Given the description of an element on the screen output the (x, y) to click on. 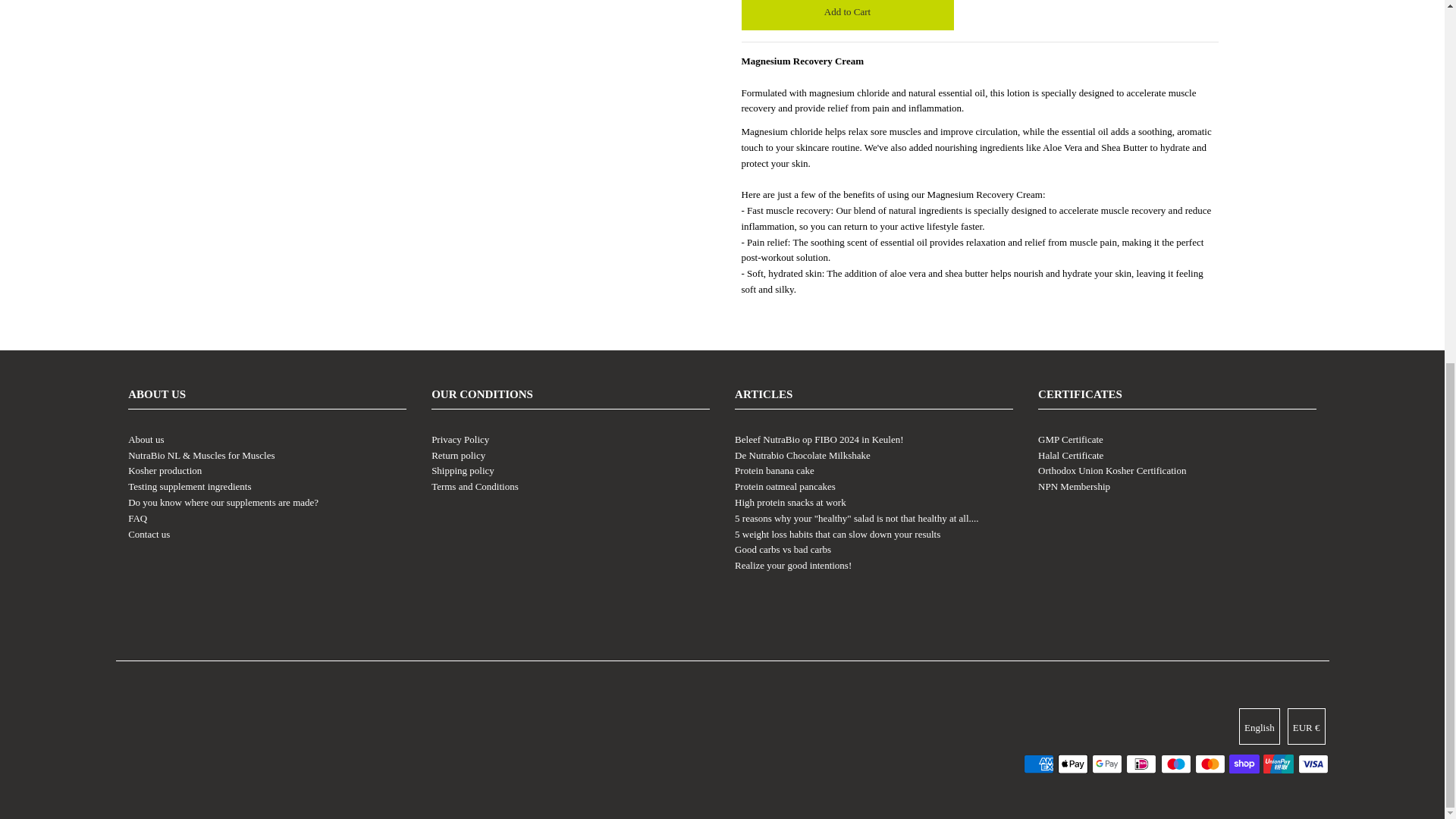
iDEAL (1140, 763)
Apple Pay (1072, 763)
American Express (1038, 763)
Shop Pay (1243, 763)
Add to Cart (847, 15)
Union Pay (1278, 763)
Maestro (1175, 763)
Visa (1312, 763)
Google Pay (1107, 763)
Mastercard (1210, 763)
